Given the description of an element on the screen output the (x, y) to click on. 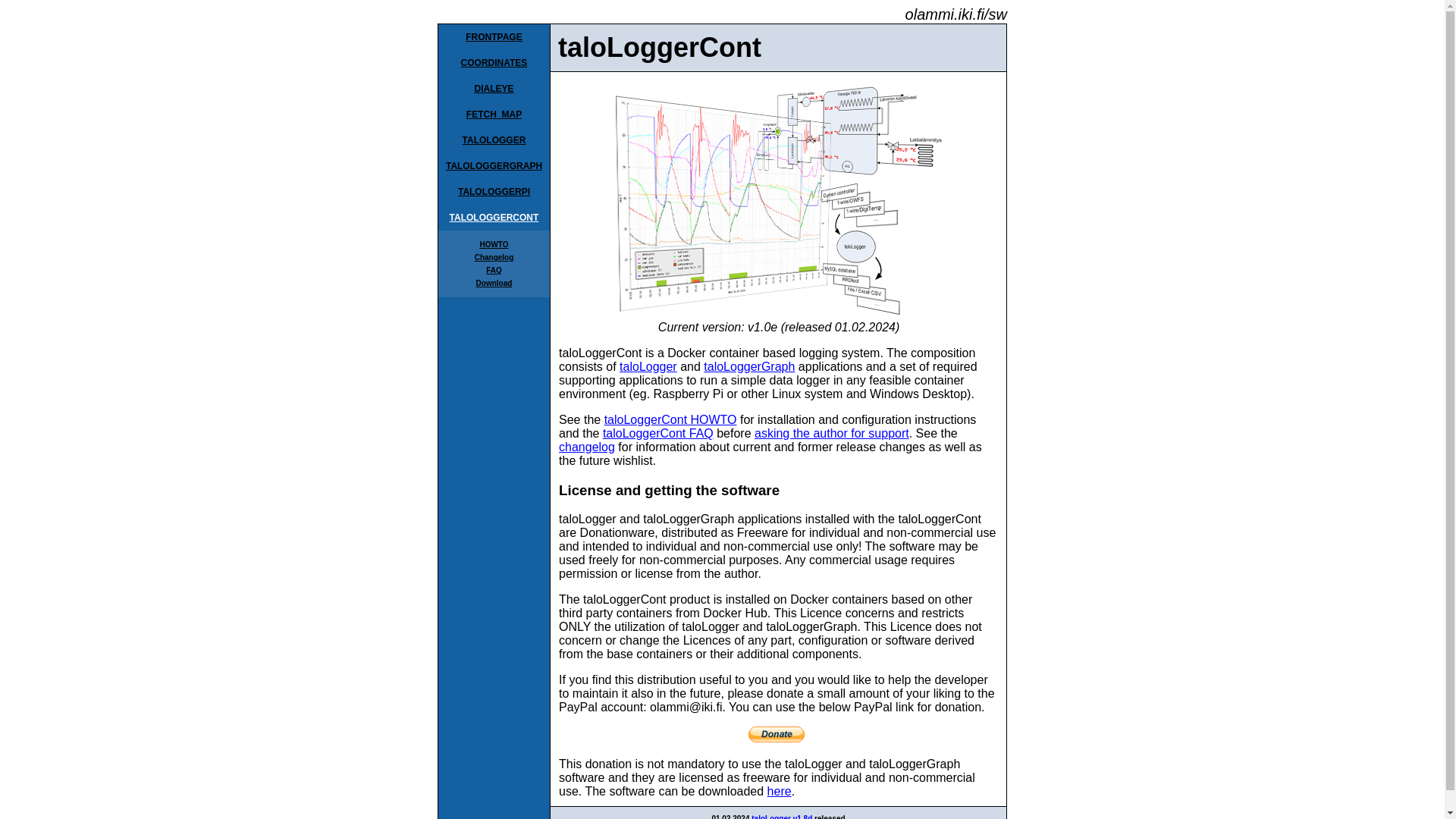
TALOLOGGERCONT (493, 217)
taloLogger (648, 366)
taloLoggerCont HOWTO (670, 419)
HOWTO (493, 244)
asking the author for support (831, 432)
Download (494, 283)
TALOLOGGER (494, 140)
taloLoggerCont FAQ (657, 432)
taloLoggerGraph (748, 366)
TALOLOGGERGRAPH (493, 165)
